Given the description of an element on the screen output the (x, y) to click on. 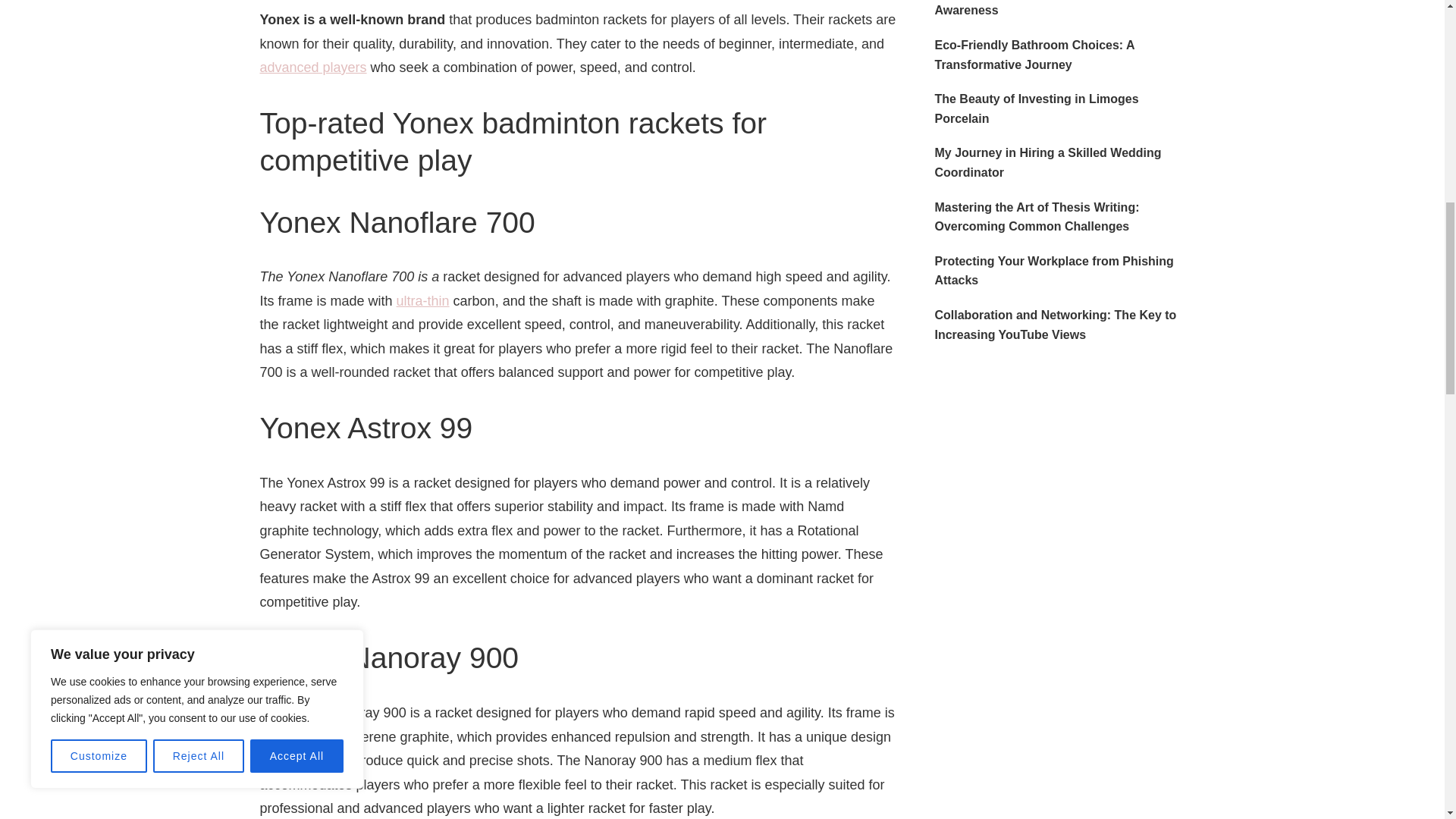
ultra-thin (422, 300)
advanced players (312, 67)
